Given the description of an element on the screen output the (x, y) to click on. 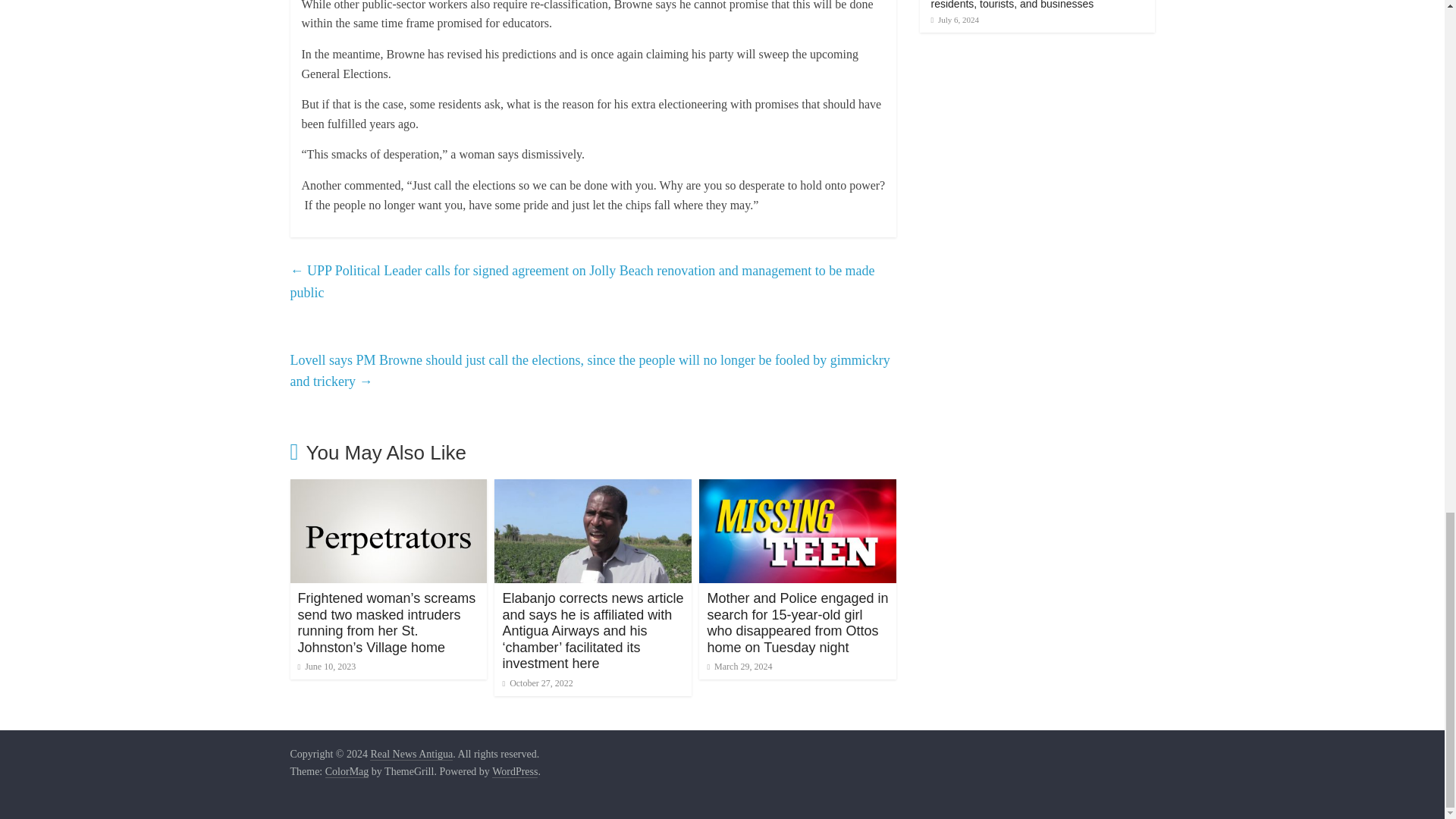
7:56 am (326, 665)
